Given the description of an element on the screen output the (x, y) to click on. 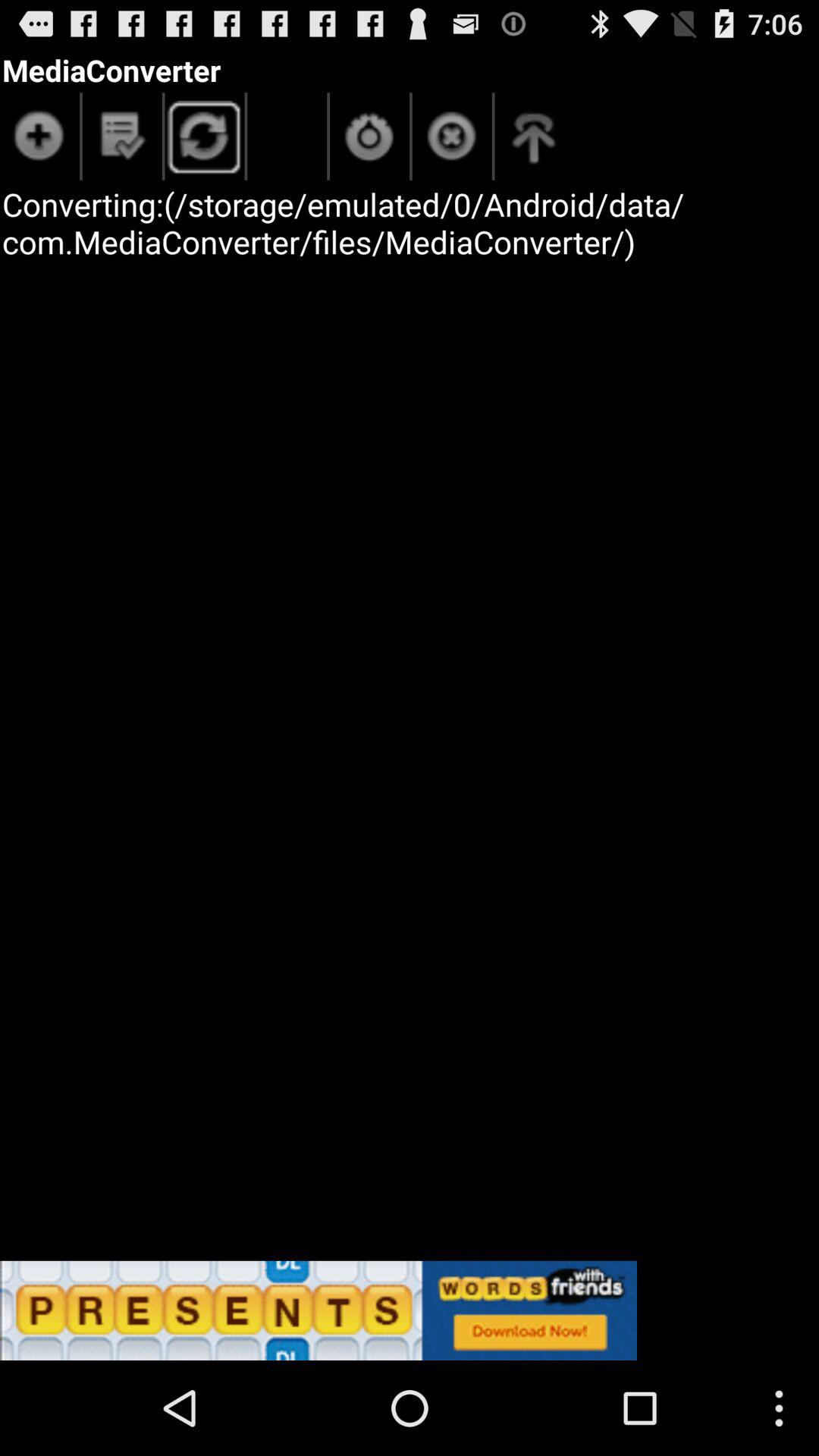
click on the icon next to plus icon (122, 140)
